Given the description of an element on the screen output the (x, y) to click on. 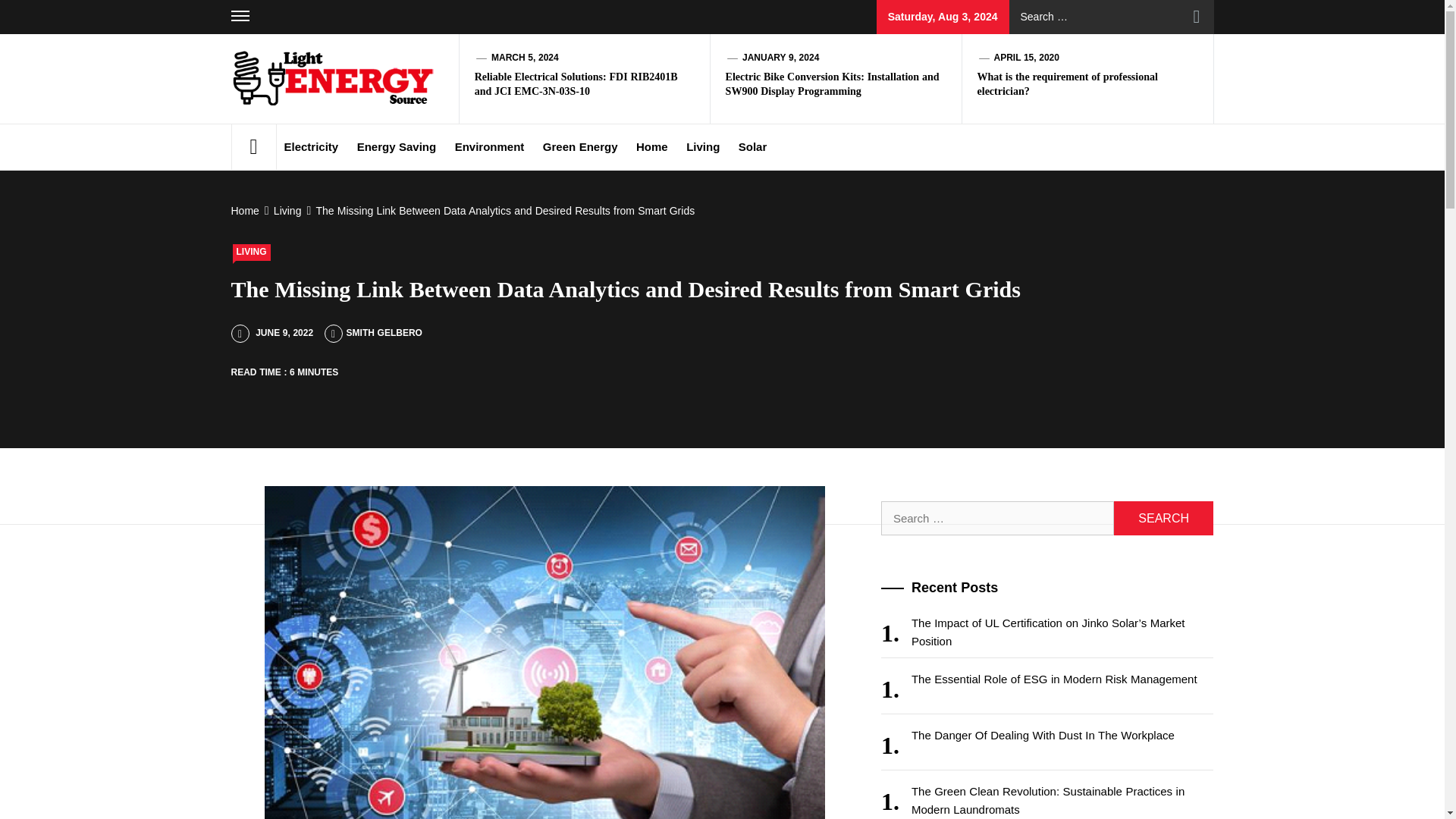
JANUARY 9, 2024 (780, 57)
Green Energy (580, 146)
Search (1196, 17)
Home (246, 210)
Solar (752, 146)
Search (1163, 518)
MARCH 5, 2024 (525, 57)
Energy Saving (396, 146)
Home (651, 146)
LIVING (250, 252)
Search (1196, 17)
JUNE 9, 2022 (271, 332)
Living (702, 146)
